Given the description of an element on the screen output the (x, y) to click on. 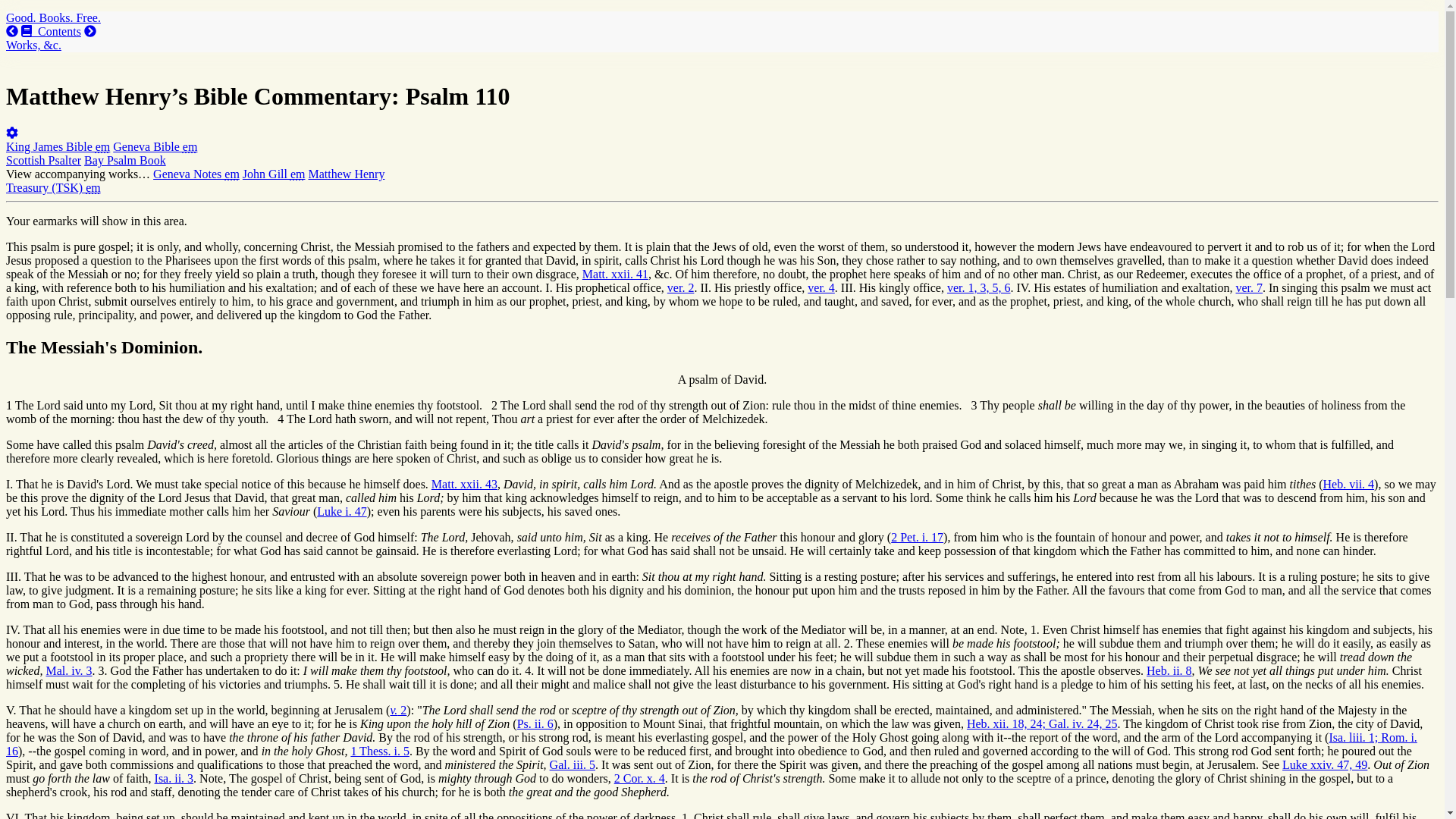
King James Bible em (57, 146)
Next Chapter (90, 31)
Treasury of Scripture Knowledge (52, 187)
  Contents (51, 31)
Matthew Henry (346, 173)
Geneva Bible em (154, 146)
Table of Contents (51, 31)
Bay Psalm Book (124, 160)
earmark-enabled (232, 173)
earmark-enabled (103, 146)
